Given the description of an element on the screen output the (x, y) to click on. 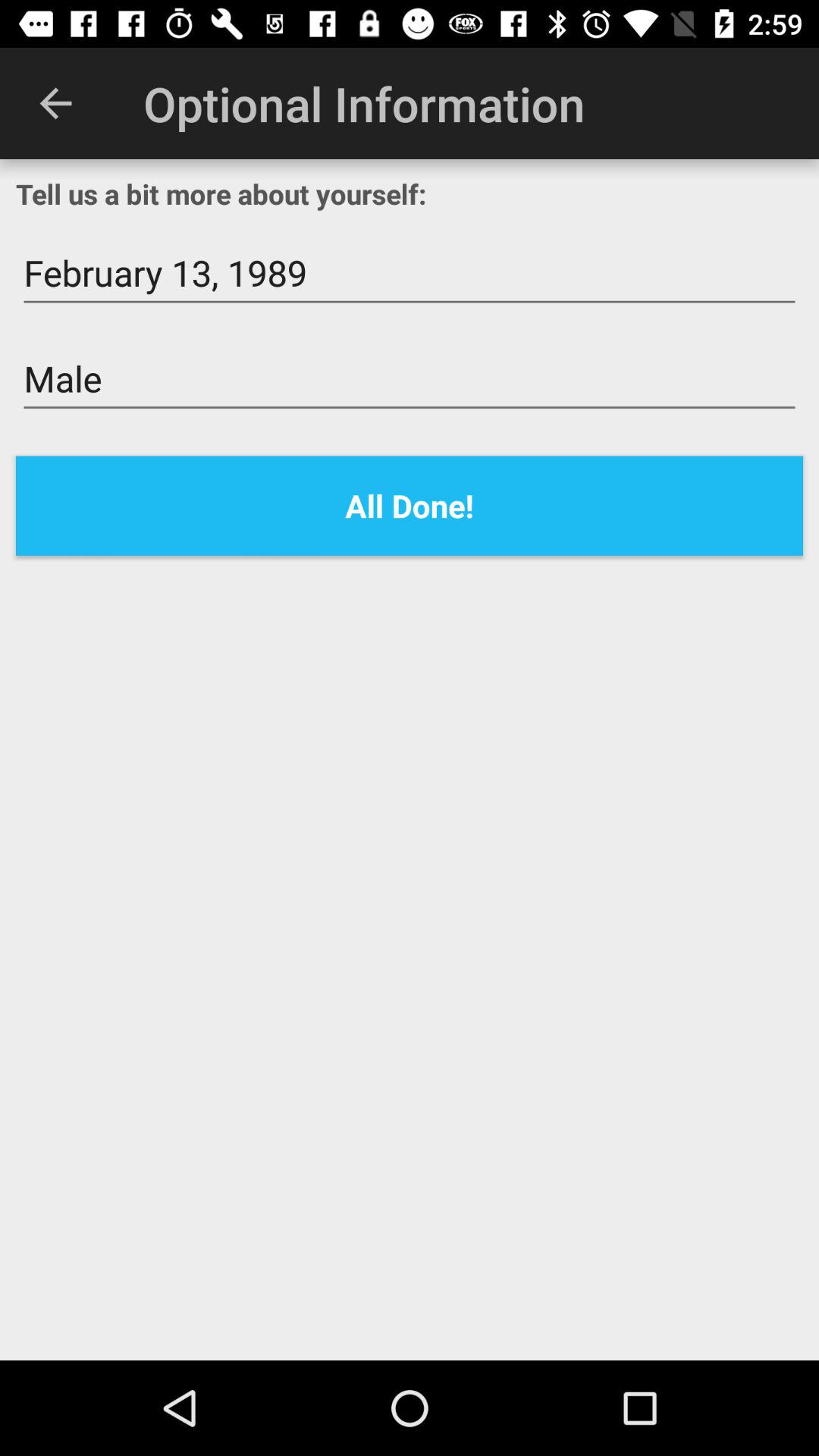
select the february 13, 1989 icon (409, 273)
